Given the description of an element on the screen output the (x, y) to click on. 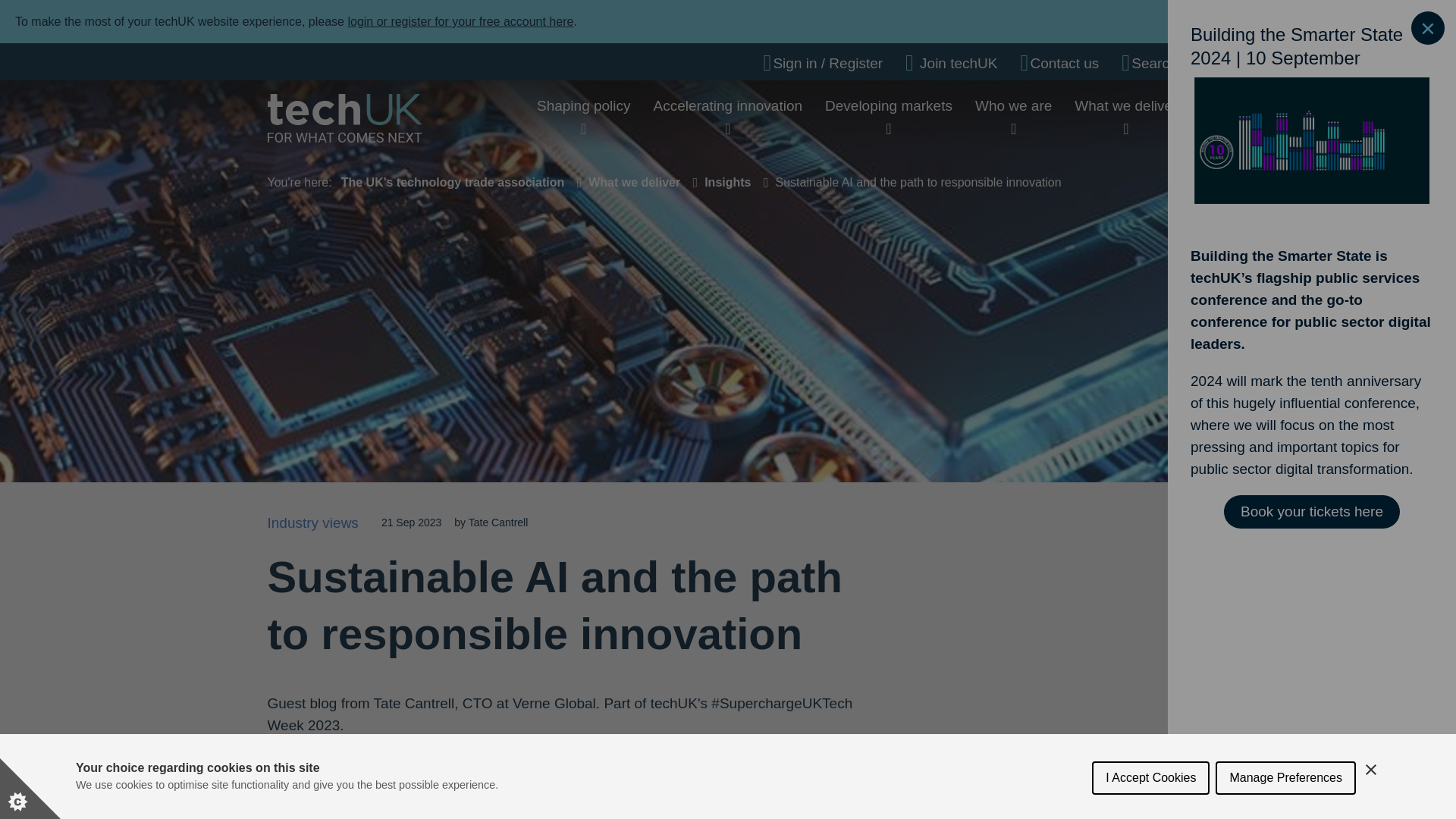
Book your tickets here (1311, 511)
I Accept Cookies (1150, 815)
login or register for your free account here (460, 21)
Join techUK (951, 62)
Manage Preferences (1285, 811)
Shaping policy (583, 105)
Search (1148, 62)
Book your tickets here (1311, 511)
Contact us (1059, 62)
Accelerating innovation (727, 105)
